Given the description of an element on the screen output the (x, y) to click on. 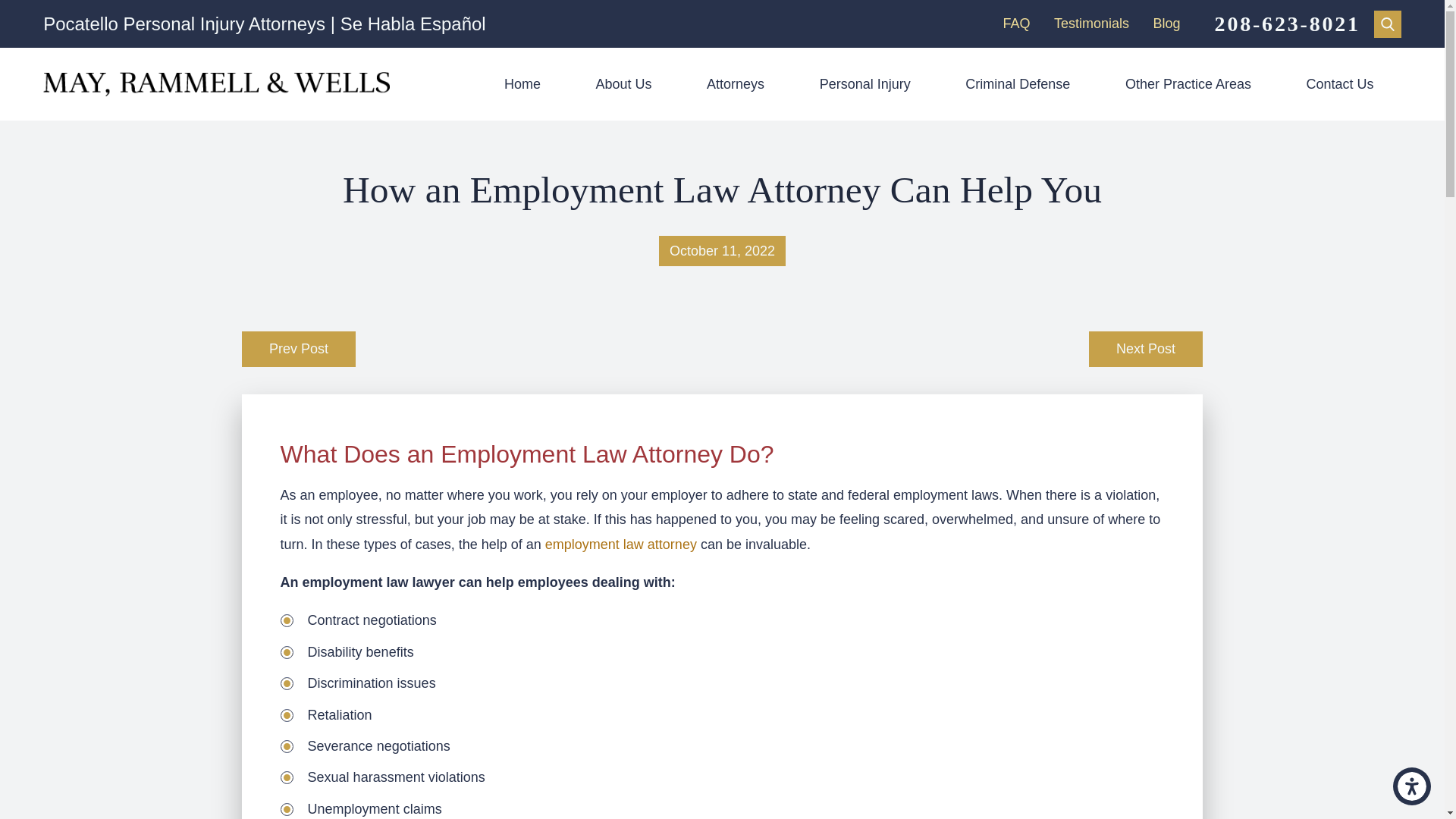
Personal Injury (864, 83)
Open the accessibility options menu (1412, 786)
Home (523, 83)
Criminal Defense (1017, 83)
FAQ (1016, 23)
Search Icon (1387, 23)
208-623-8021 (1286, 23)
Search Our Site (1387, 23)
Attorneys (735, 83)
Blog (1166, 23)
About Us (623, 83)
Testimonials (1091, 23)
